Given the description of an element on the screen output the (x, y) to click on. 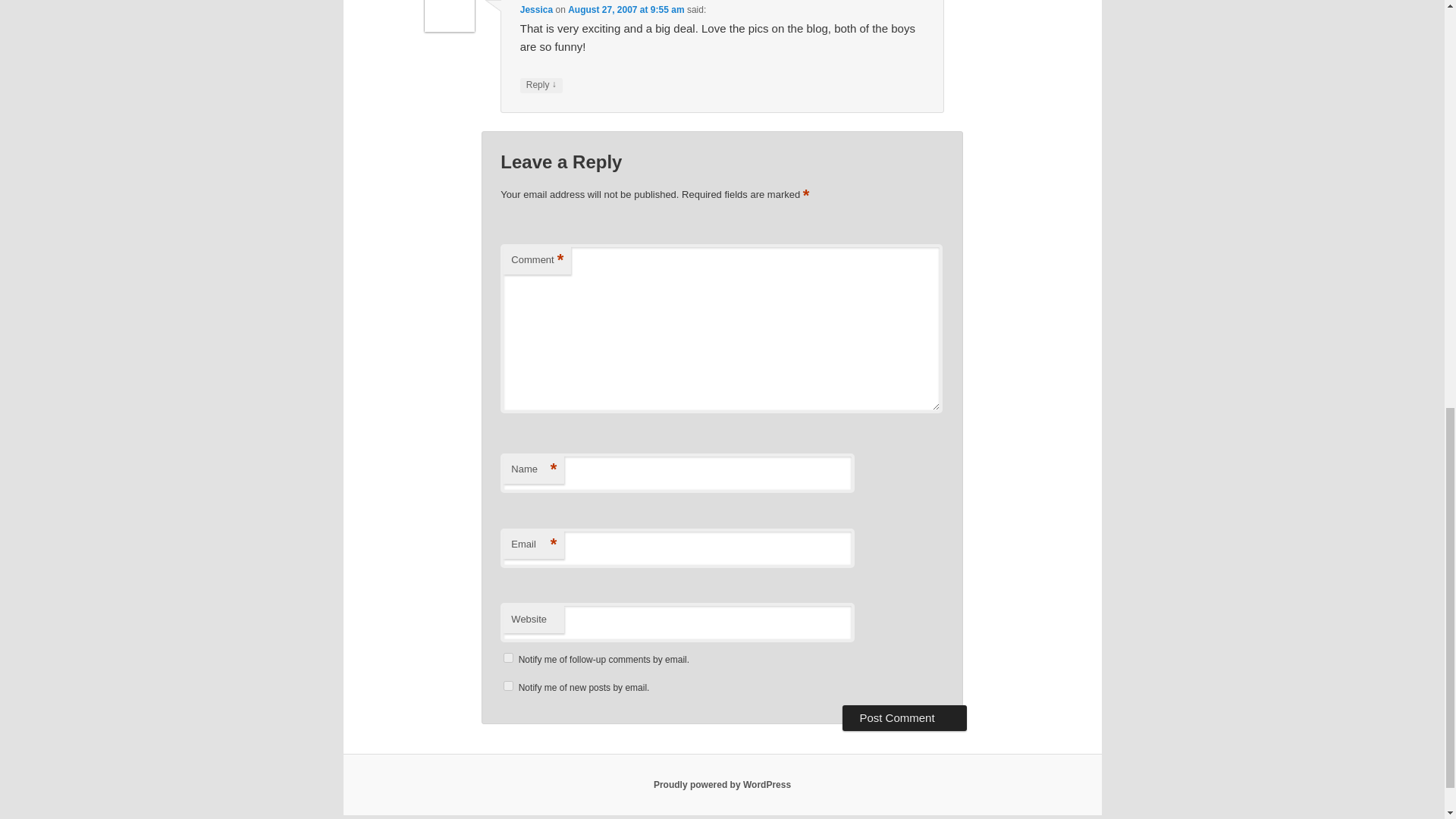
subscribe (508, 685)
August 27, 2007 at 9:55 am (625, 9)
Post Comment (904, 718)
subscribe (508, 657)
Proudly powered by WordPress (721, 784)
Post Comment (904, 718)
Semantic Personal Publishing Platform (721, 784)
Jessica (536, 9)
